Given the description of an element on the screen output the (x, y) to click on. 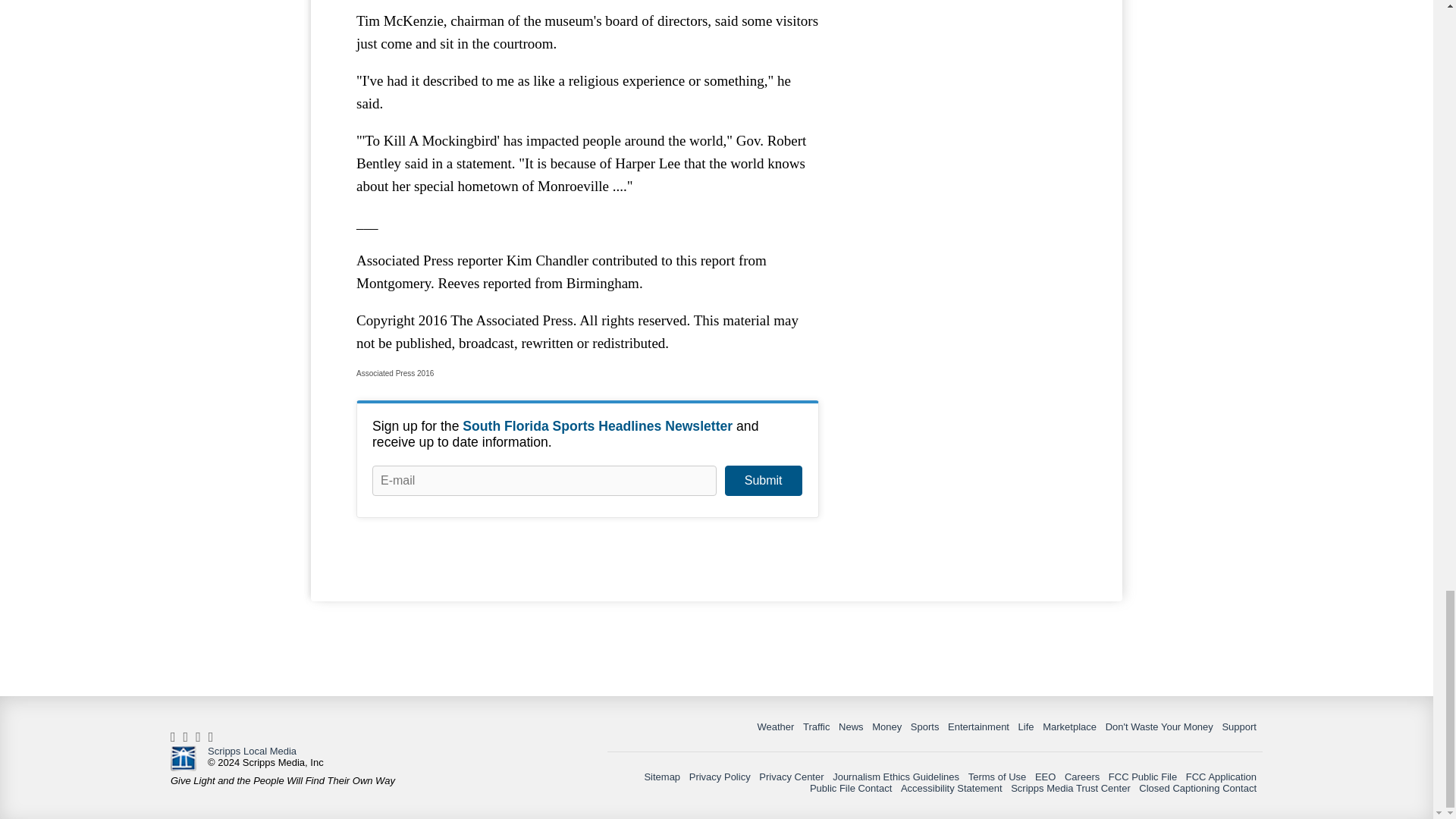
Submit (763, 481)
